Given the description of an element on the screen output the (x, y) to click on. 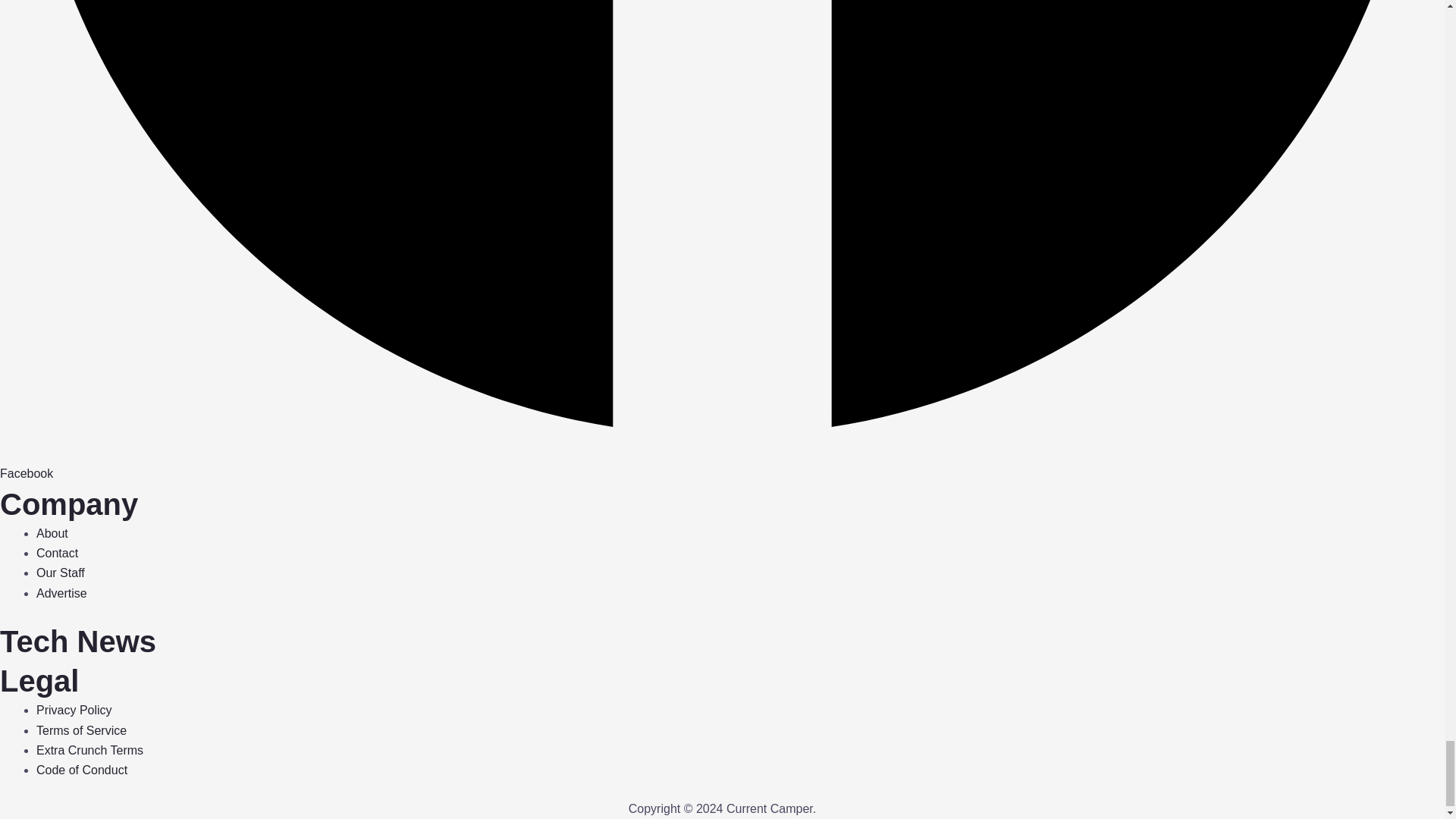
Contact (57, 553)
About (52, 533)
